Given the description of an element on the screen output the (x, y) to click on. 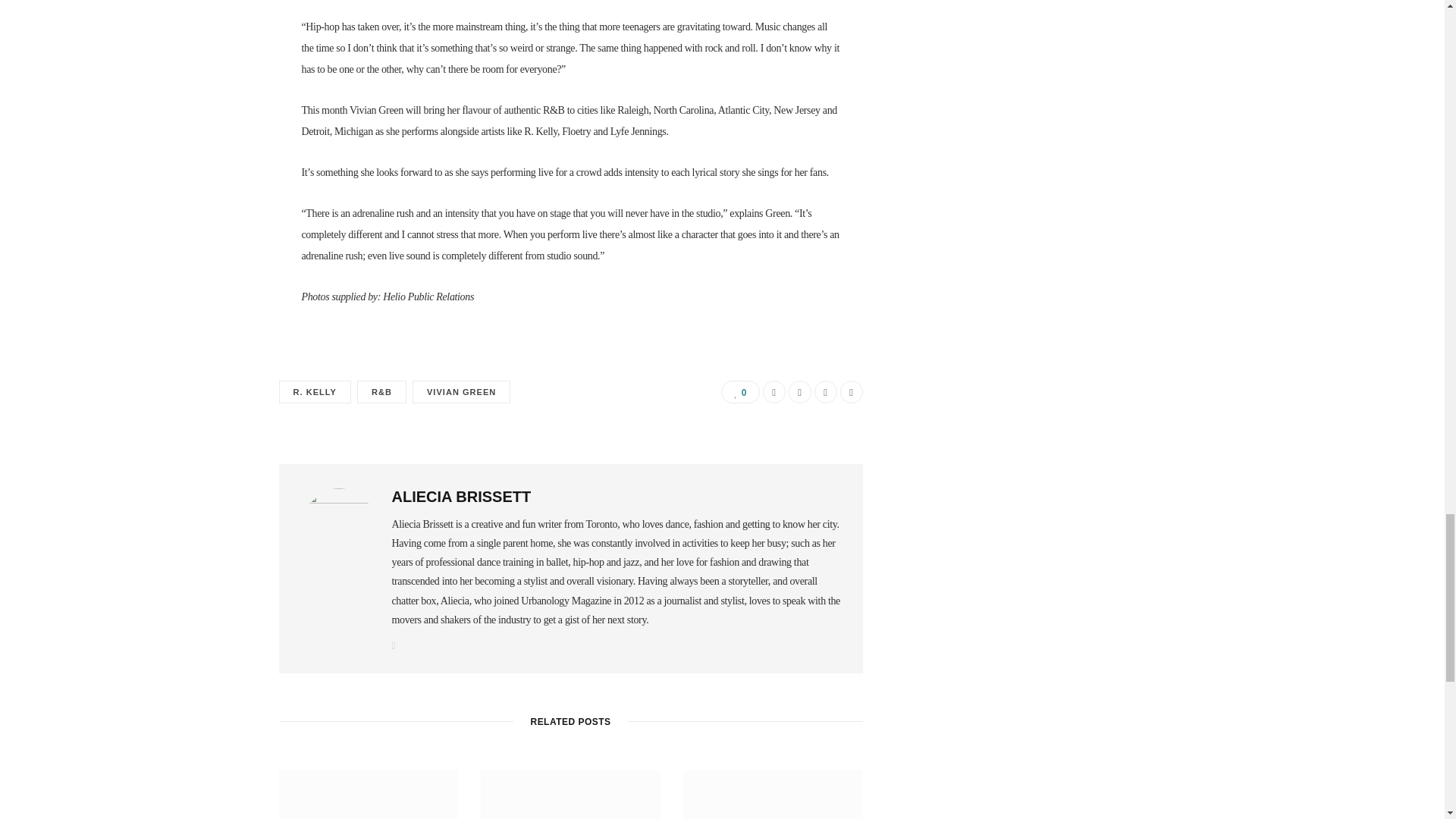
Facebook (774, 391)
Twitter (799, 391)
Posts by Aliecia Brissett (461, 496)
Pinterest (825, 391)
Toronto Afrofuturist Borelson is in a league of his own (368, 794)
Tanisha Clarke: Music mogul in the making (570, 794)
Email (851, 391)
